Given the description of an element on the screen output the (x, y) to click on. 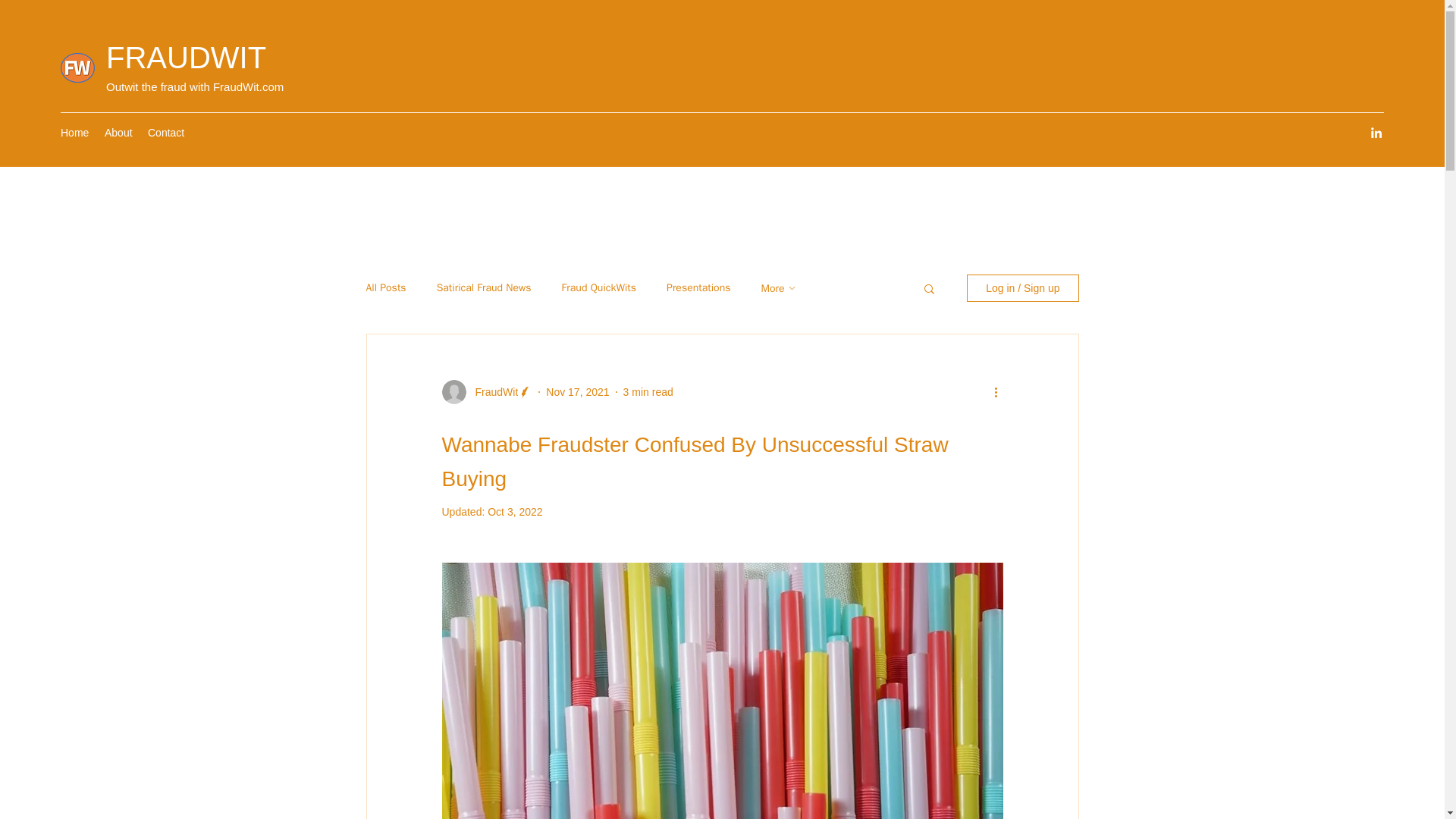
Oct 3, 2022 (514, 511)
All Posts (385, 287)
FraudWit (491, 391)
Contact (165, 132)
FRAUDWIT (186, 57)
Home (74, 132)
Presentations (698, 287)
Nov 17, 2021 (577, 390)
Fraud QuickWits (599, 287)
3 min read (647, 390)
Satirical Fraud News (483, 287)
About (118, 132)
